Given the description of an element on the screen output the (x, y) to click on. 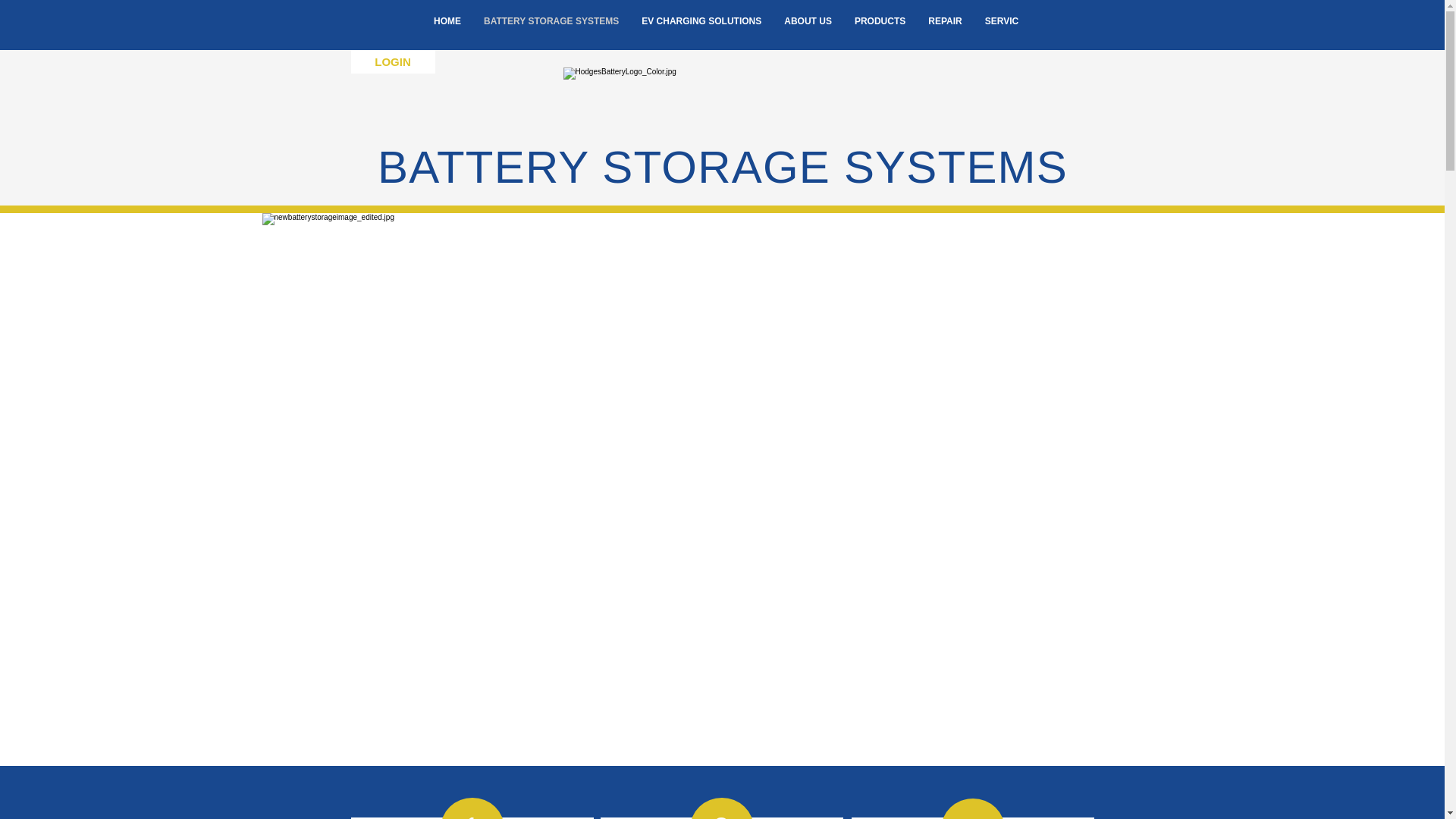
EV CHARGING SOLUTIONS (701, 30)
SERVICES (1008, 30)
REPAIR (944, 30)
LOGIN (391, 61)
BATTERY STORAGE SYSTEMS (550, 30)
HOME (446, 30)
ABOUT US (808, 30)
PRODUCTS (880, 30)
